Given the description of an element on the screen output the (x, y) to click on. 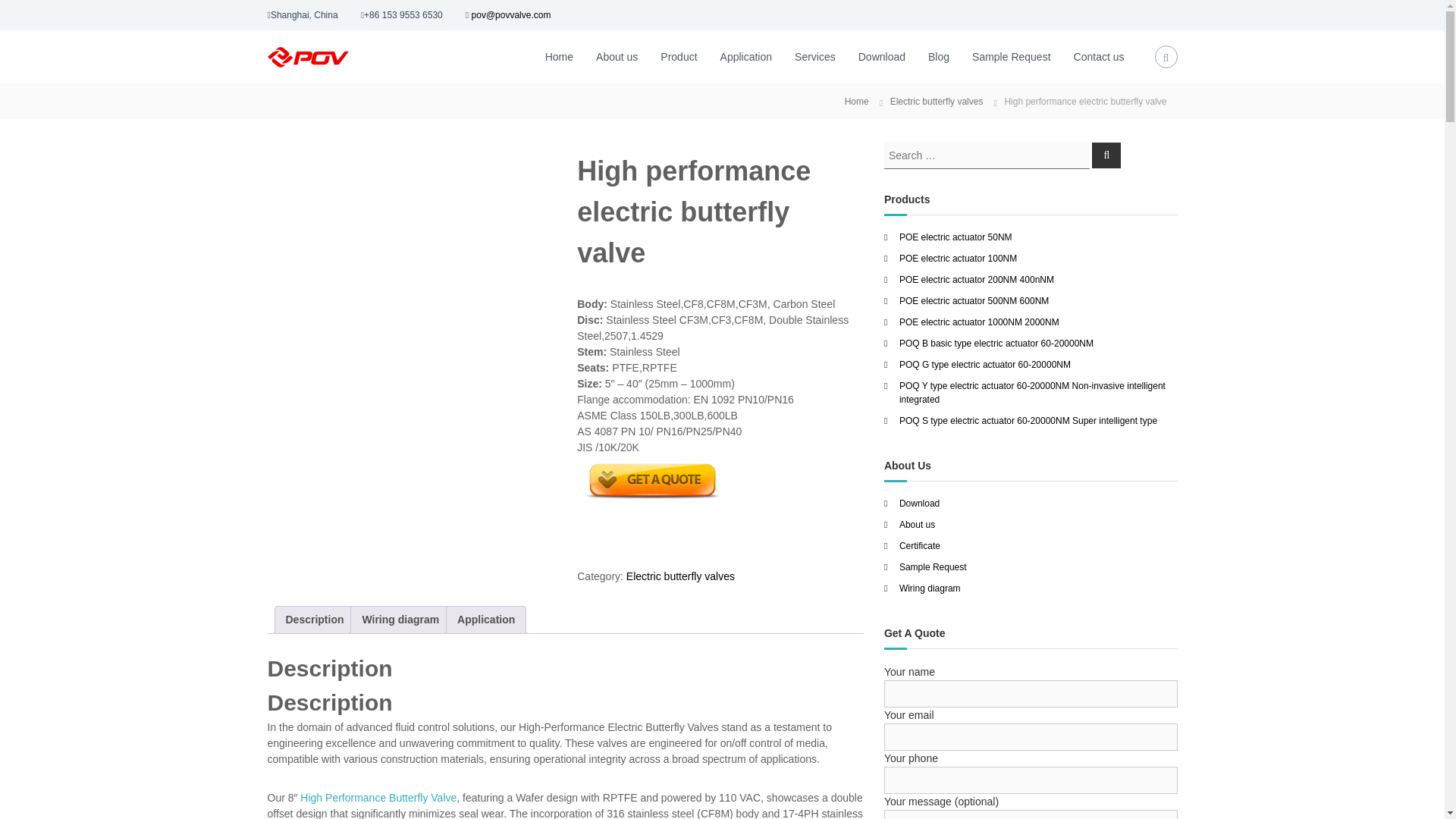
Home (856, 101)
Electric butterfly valves (680, 576)
Description (314, 619)
Blog (938, 55)
High Performance Butterfly Valve (378, 797)
Product (679, 55)
About us (616, 55)
Services (814, 55)
free quote (652, 480)
Download (882, 55)
